Given the description of an element on the screen output the (x, y) to click on. 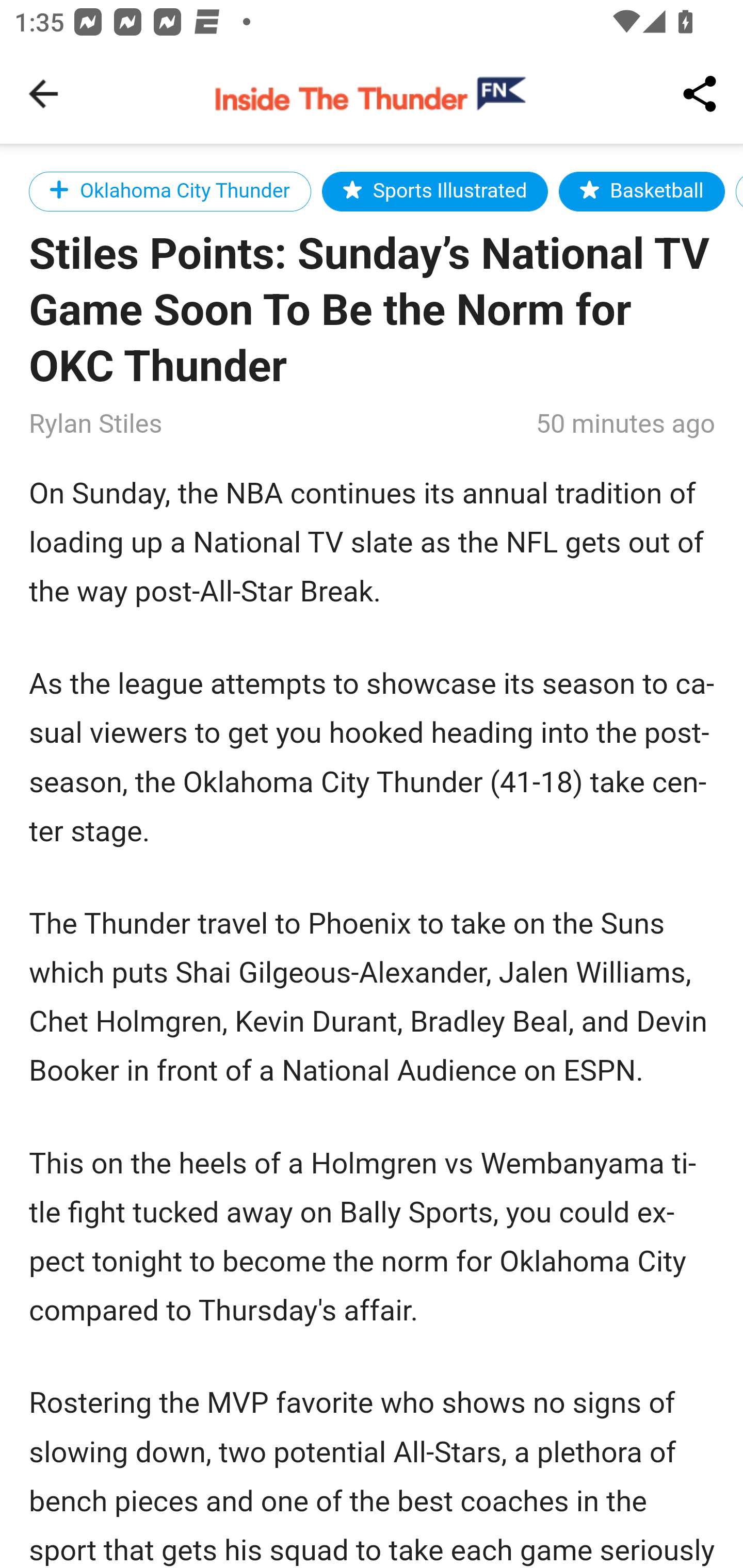
Oklahoma City Thunder (170, 191)
Sports Illustrated (435, 191)
Basketball (641, 191)
